Given the description of an element on the screen output the (x, y) to click on. 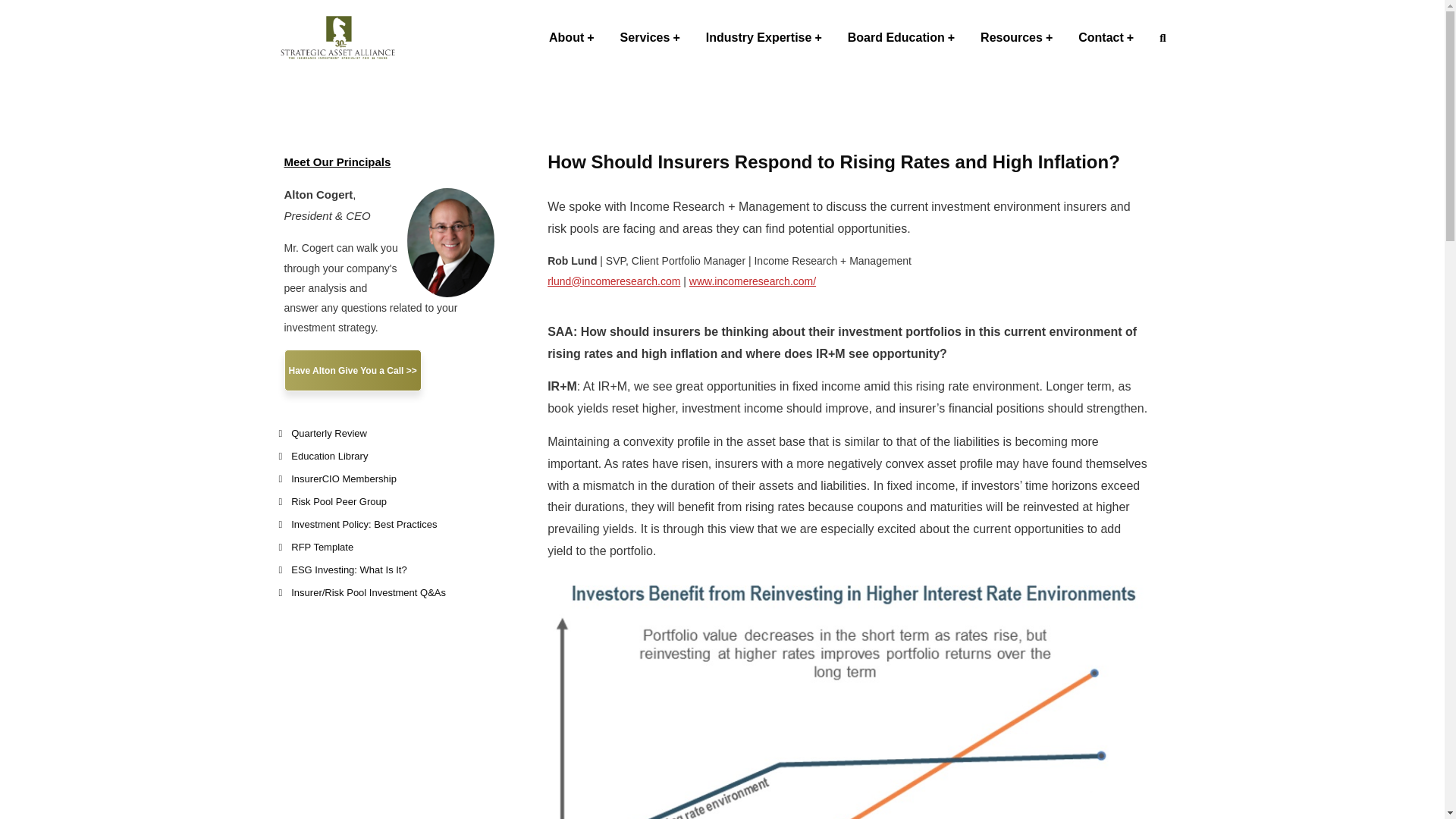
Strategic Asset Alliance (338, 36)
Board Education (901, 38)
Industry Expertise (764, 38)
